Given the description of an element on the screen output the (x, y) to click on. 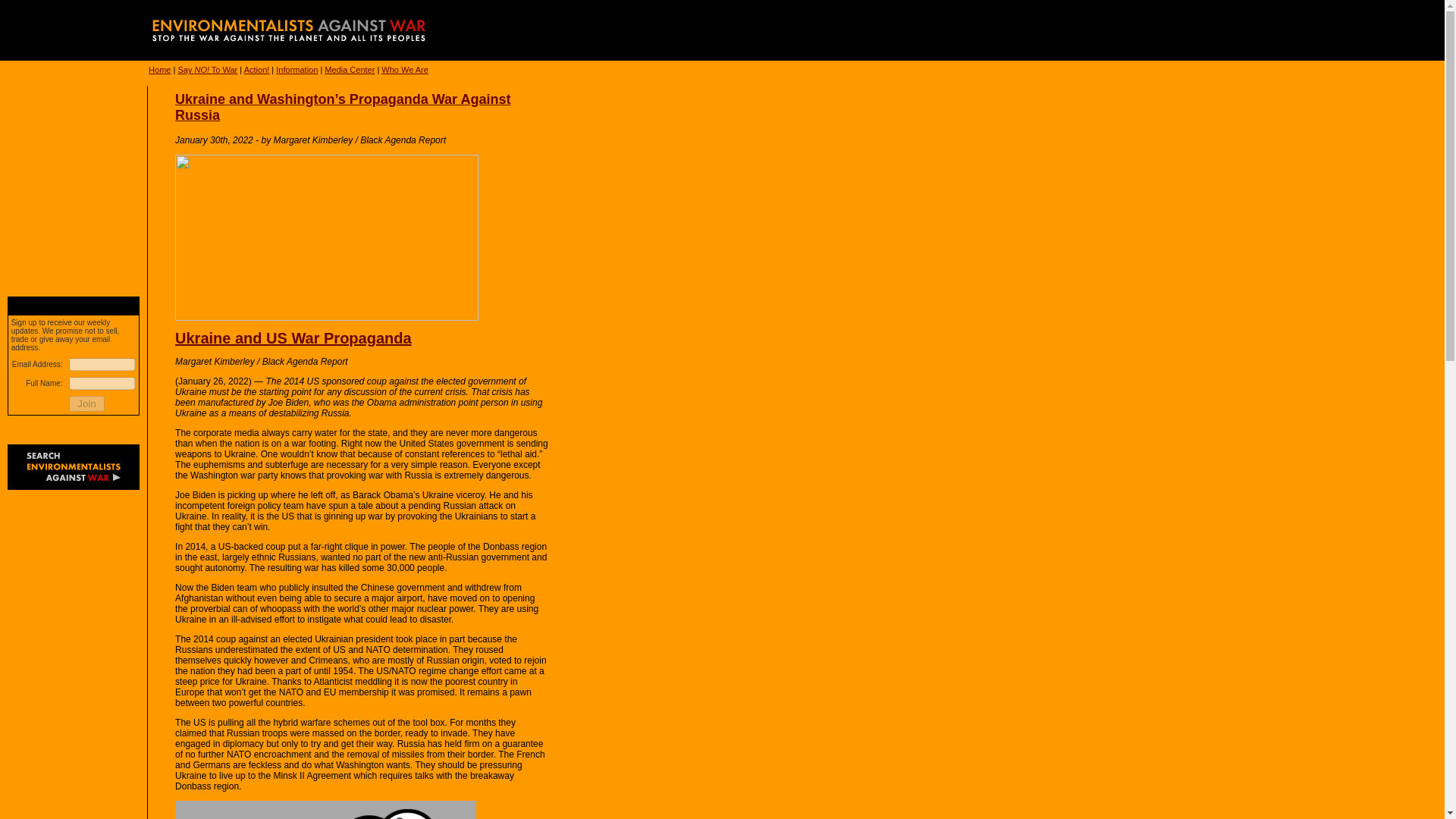
Say NO! To War (207, 69)
Who We Are (404, 69)
 Join  (86, 403)
Ukraine and US War Propaganda (293, 338)
 Join  (86, 403)
Action! (256, 69)
Media Center (349, 69)
Home (159, 69)
Information (296, 69)
